Given the description of an element on the screen output the (x, y) to click on. 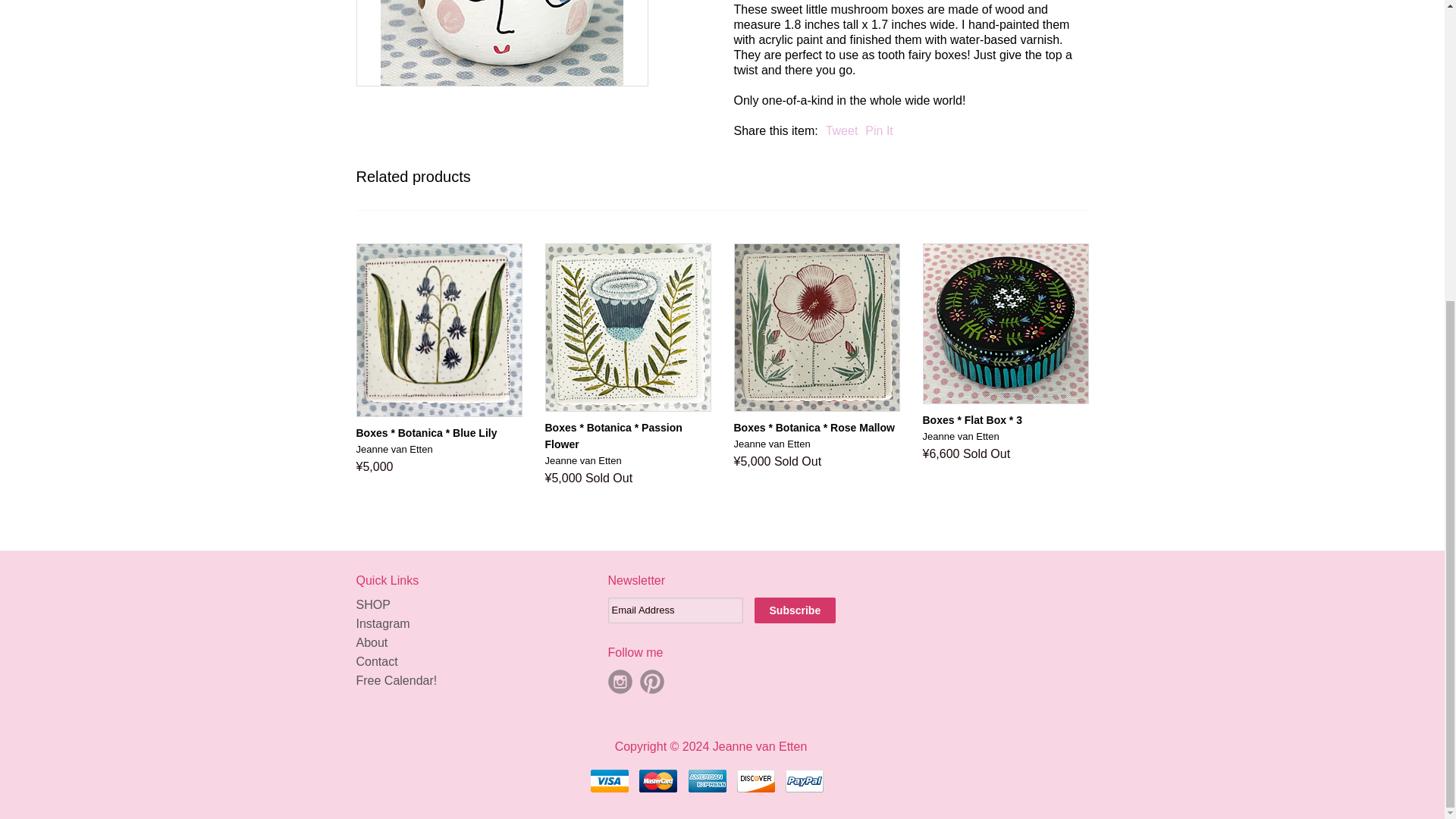
About (372, 642)
Tweet (842, 130)
SHOP (373, 604)
Free Calendar! (397, 680)
Free Calendar! (397, 680)
Jeanne van Etten on Instagram (619, 681)
Contact (376, 661)
Contact (376, 661)
Subscribe (794, 610)
Instagram (383, 623)
About  (372, 642)
Pin It (878, 130)
SHOP (373, 604)
Subscribe (794, 610)
Jeanne van Etten on Pinterest (651, 681)
